Given the description of an element on the screen output the (x, y) to click on. 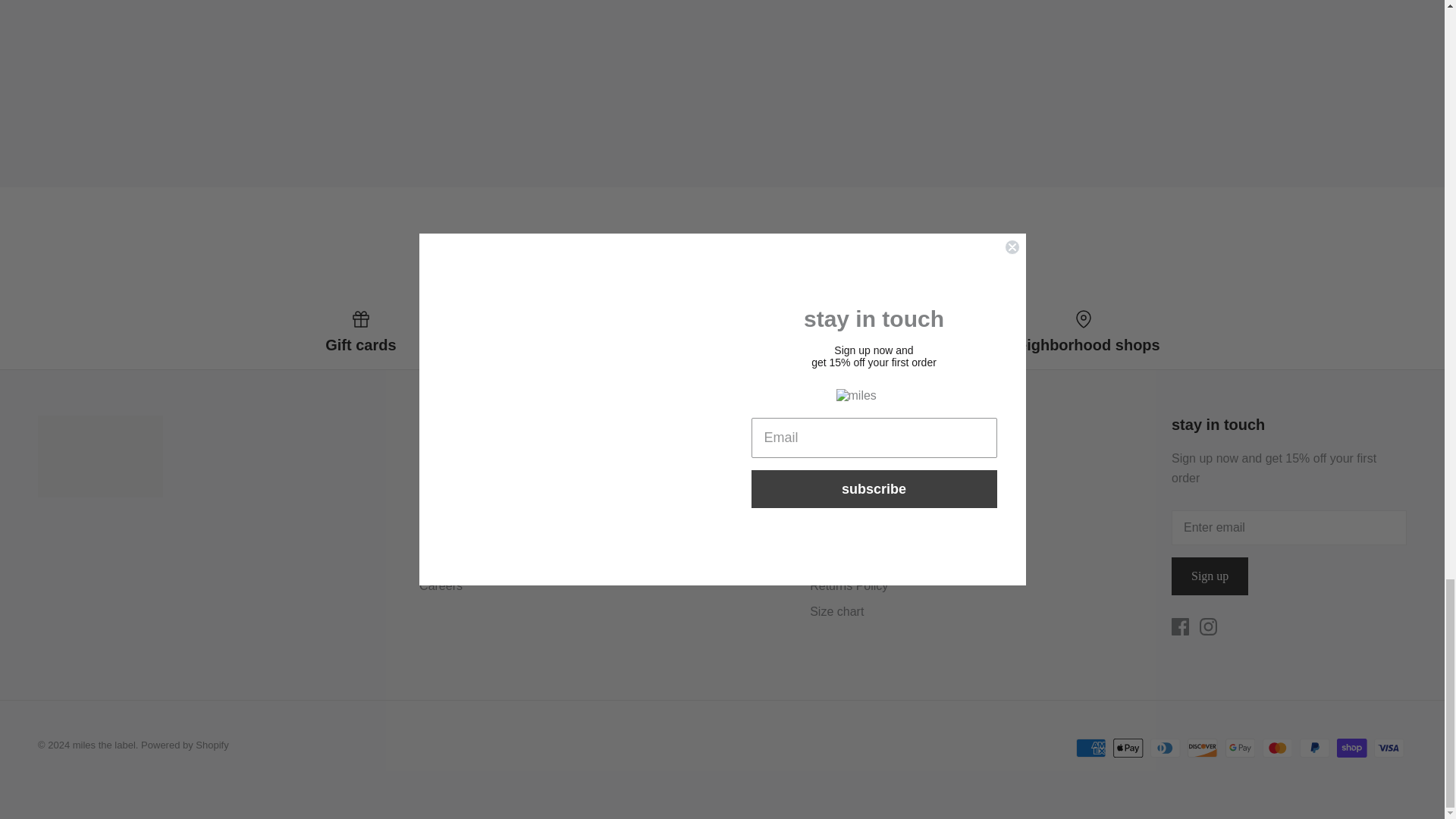
Discover (1202, 747)
Facebook (1180, 626)
Mastercard (1277, 747)
Diners Club (1165, 747)
American Express (1090, 747)
Instagram (1208, 626)
Google Pay (1240, 747)
Apple Pay (1127, 747)
